Given the description of an element on the screen output the (x, y) to click on. 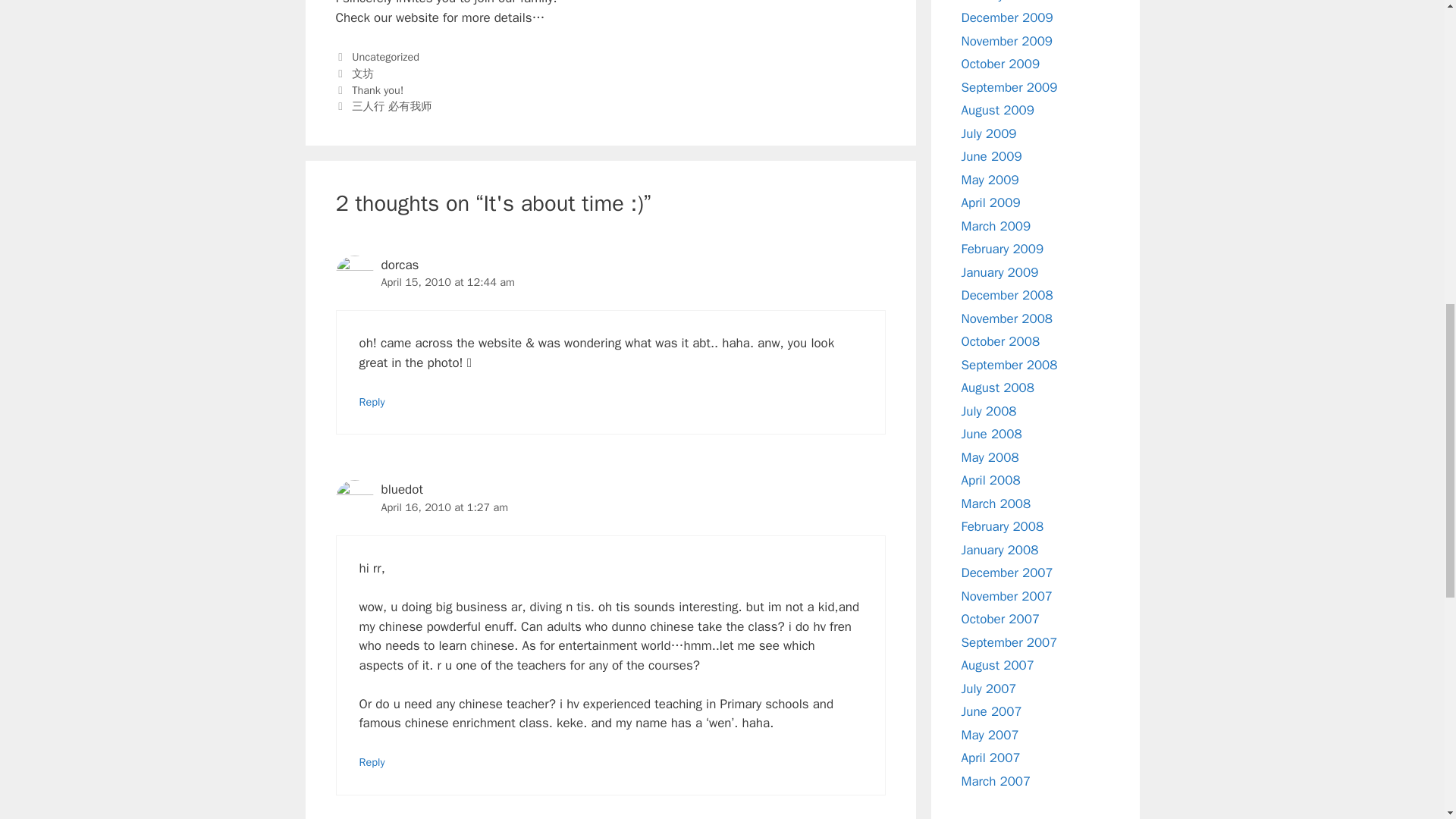
Reply (372, 762)
April 16, 2010 at 1:27 am (444, 507)
Next (382, 106)
Uncategorized (385, 56)
Reply (372, 401)
Thank you! (377, 90)
April 15, 2010 at 12:44 am (446, 282)
Previous (368, 90)
